Given the description of an element on the screen output the (x, y) to click on. 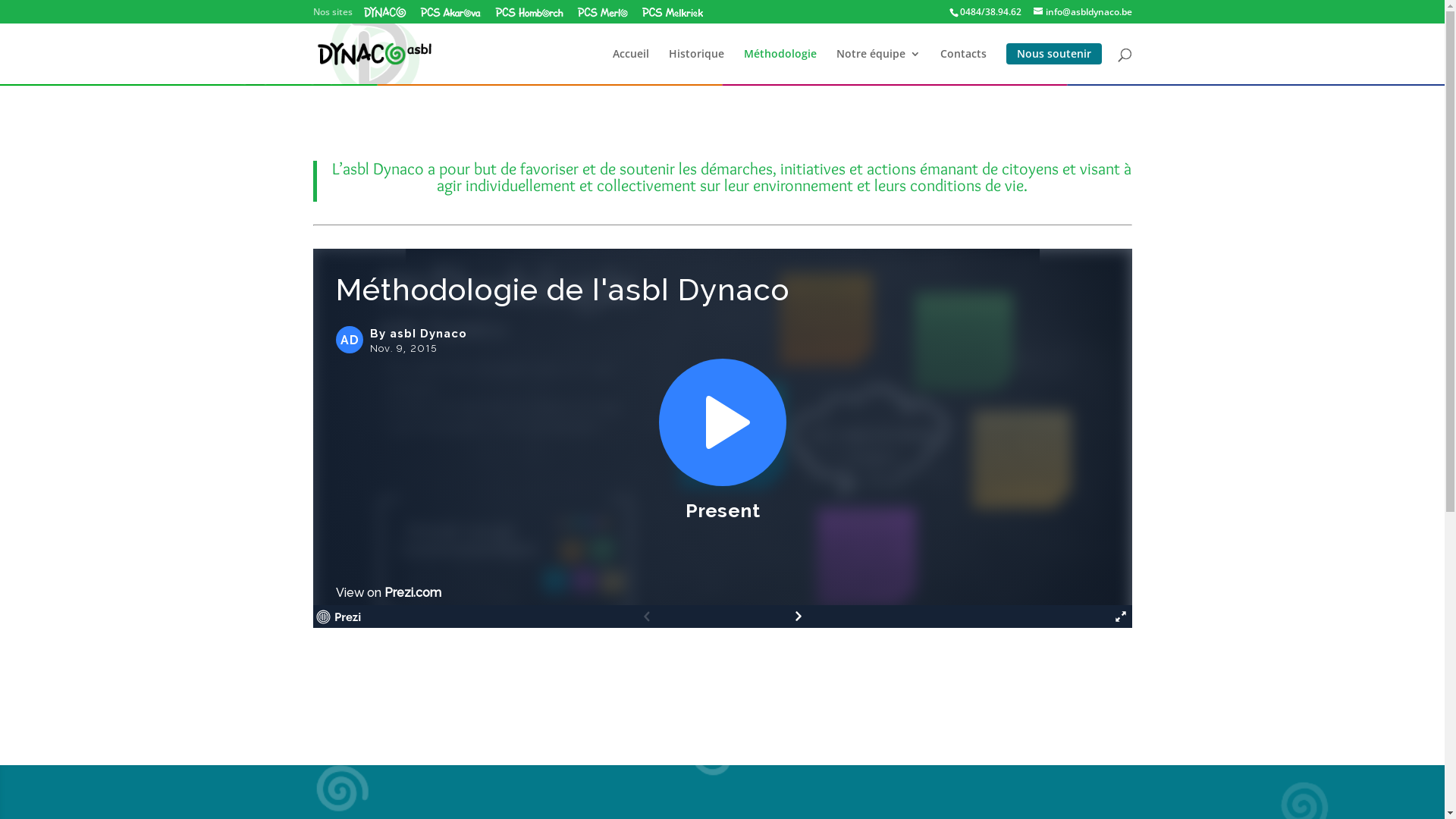
info@asbldynaco.be Element type: text (1081, 11)
Dynaco asbl Element type: text (385, 11)
PCS Homborch Element type: text (528, 11)
PCS Akarova Element type: text (450, 11)
Historique Element type: text (696, 66)
PCS Melkriek Element type: text (671, 11)
Nous soutenir Element type: text (1053, 53)
PCS Merlo Element type: text (601, 11)
Accueil Element type: text (630, 66)
Contacts Element type: text (963, 66)
